Given the description of an element on the screen output the (x, y) to click on. 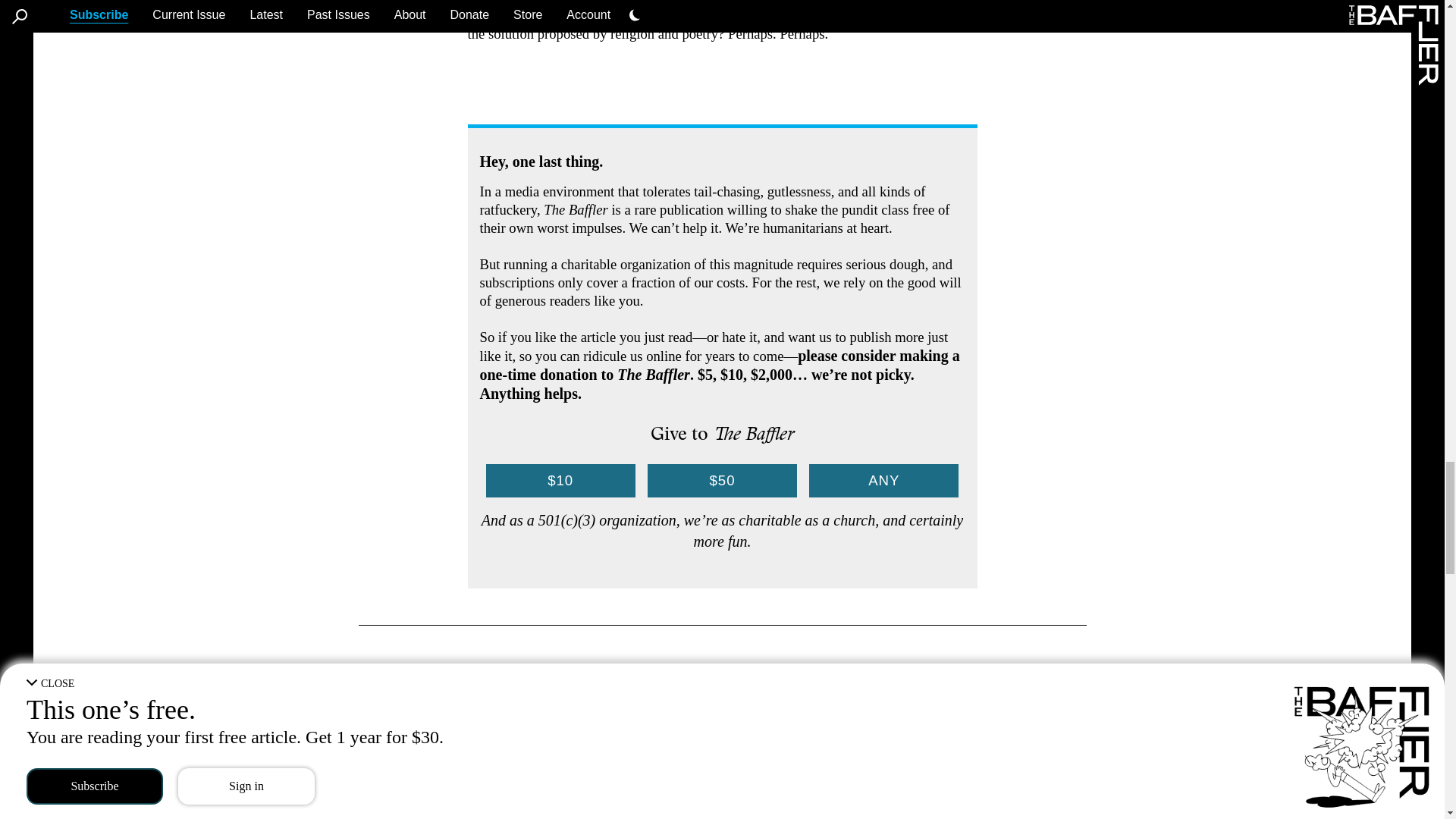
ANY (883, 480)
Subscribe (721, 810)
Subscribe (721, 810)
